Given the description of an element on the screen output the (x, y) to click on. 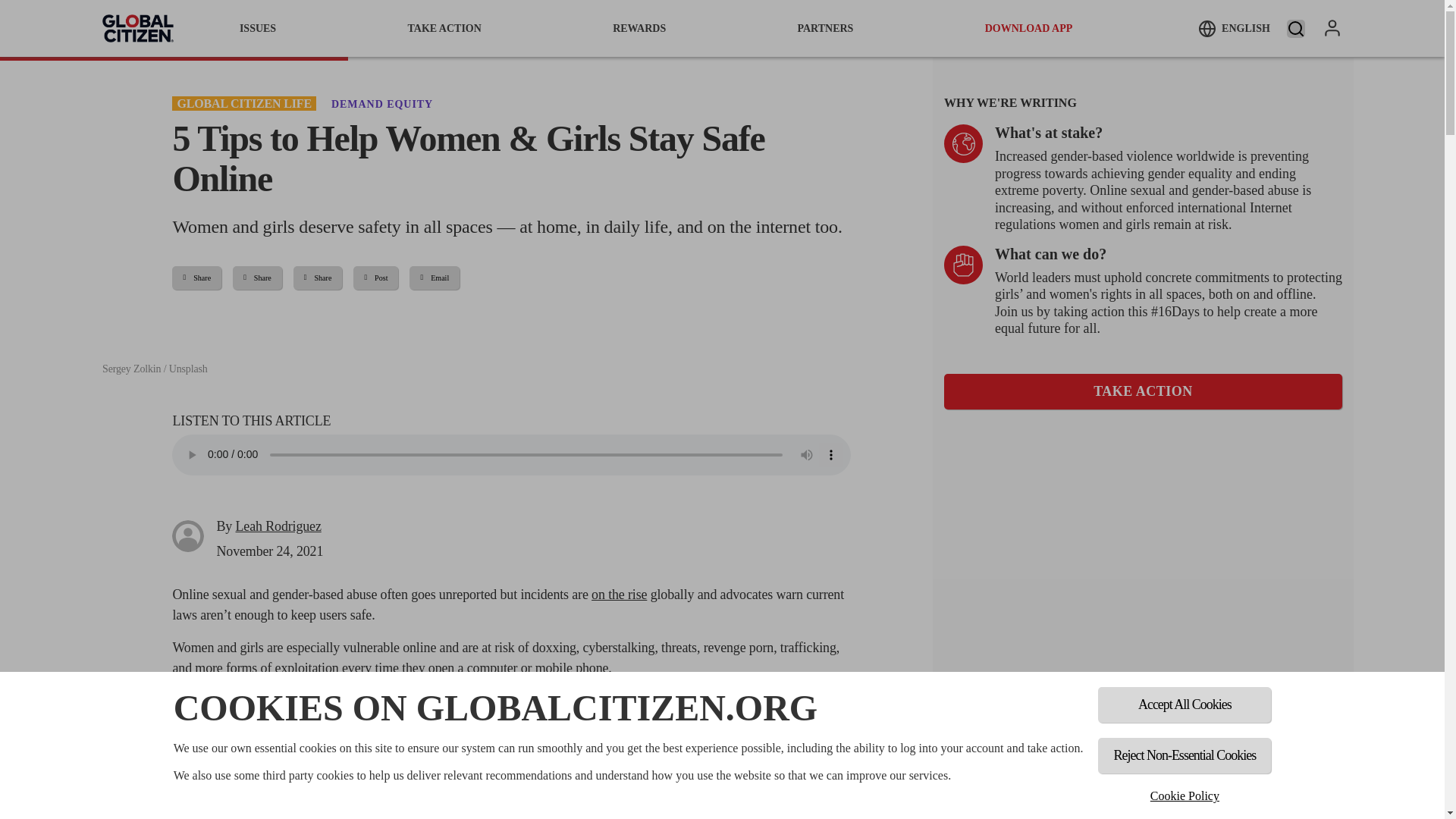
DOWNLOAD APP (1029, 28)
ENGLISH (1233, 28)
ISSUES (257, 28)
Demand Equity (381, 103)
REWARDS (639, 28)
PARTNERS (825, 28)
TAKE ACTION (444, 28)
DEMAND EQUITY (381, 103)
TAKE ACTION (1142, 390)
